Given the description of an element on the screen output the (x, y) to click on. 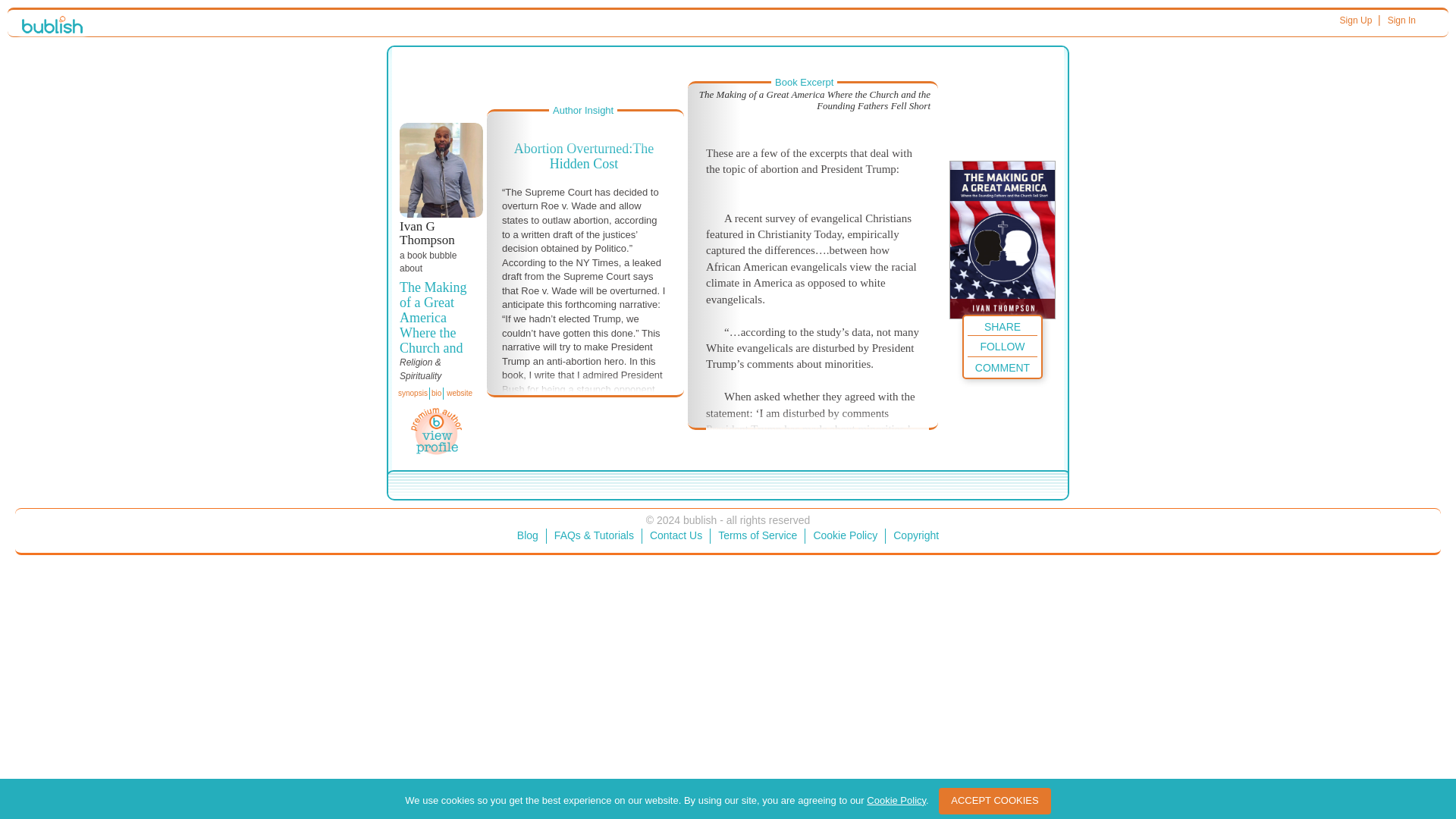
Sign Up (1356, 20)
FOLLOW (1002, 344)
SHARE (1002, 325)
Blog (528, 535)
COMMENT (1002, 366)
synopsis (412, 393)
website (459, 393)
Sign In (1401, 20)
Terms of Service (757, 535)
Contact Us (676, 535)
